Given the description of an element on the screen output the (x, y) to click on. 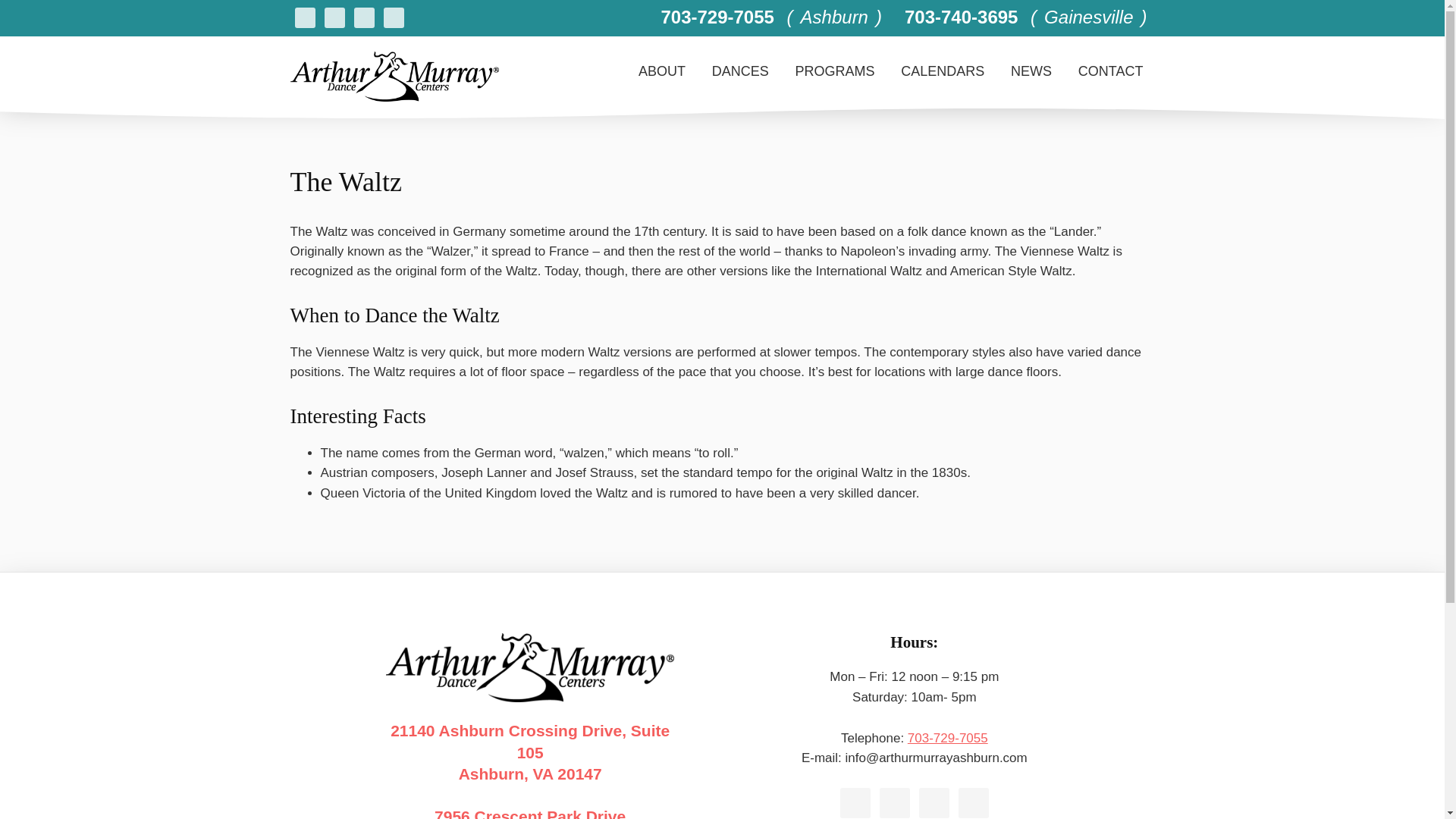
DANCES (740, 70)
NEWS (529, 814)
Skip to primary navigation (1030, 70)
703-729-7055 (529, 753)
PROGRAMS (947, 738)
703-729-7055 (942, 70)
ABOUT (835, 70)
